Given the description of an element on the screen output the (x, y) to click on. 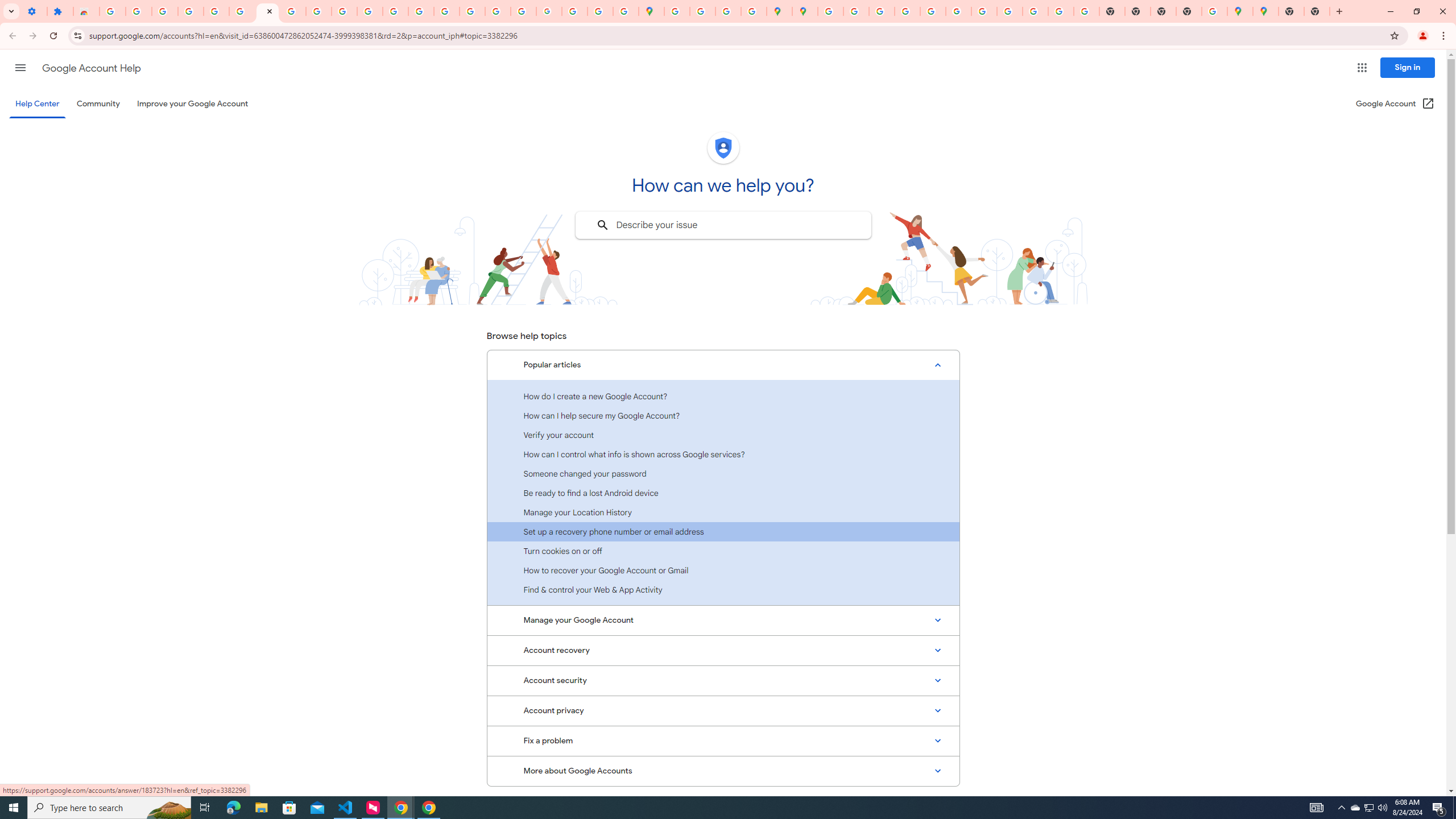
How can I help secure my Google Account? (722, 415)
Manage your Google Account (722, 620)
Extensions (60, 11)
Sign in - Google Accounts (830, 11)
Use Google Maps in Space - Google Maps Help (1213, 11)
